Given the description of an element on the screen output the (x, y) to click on. 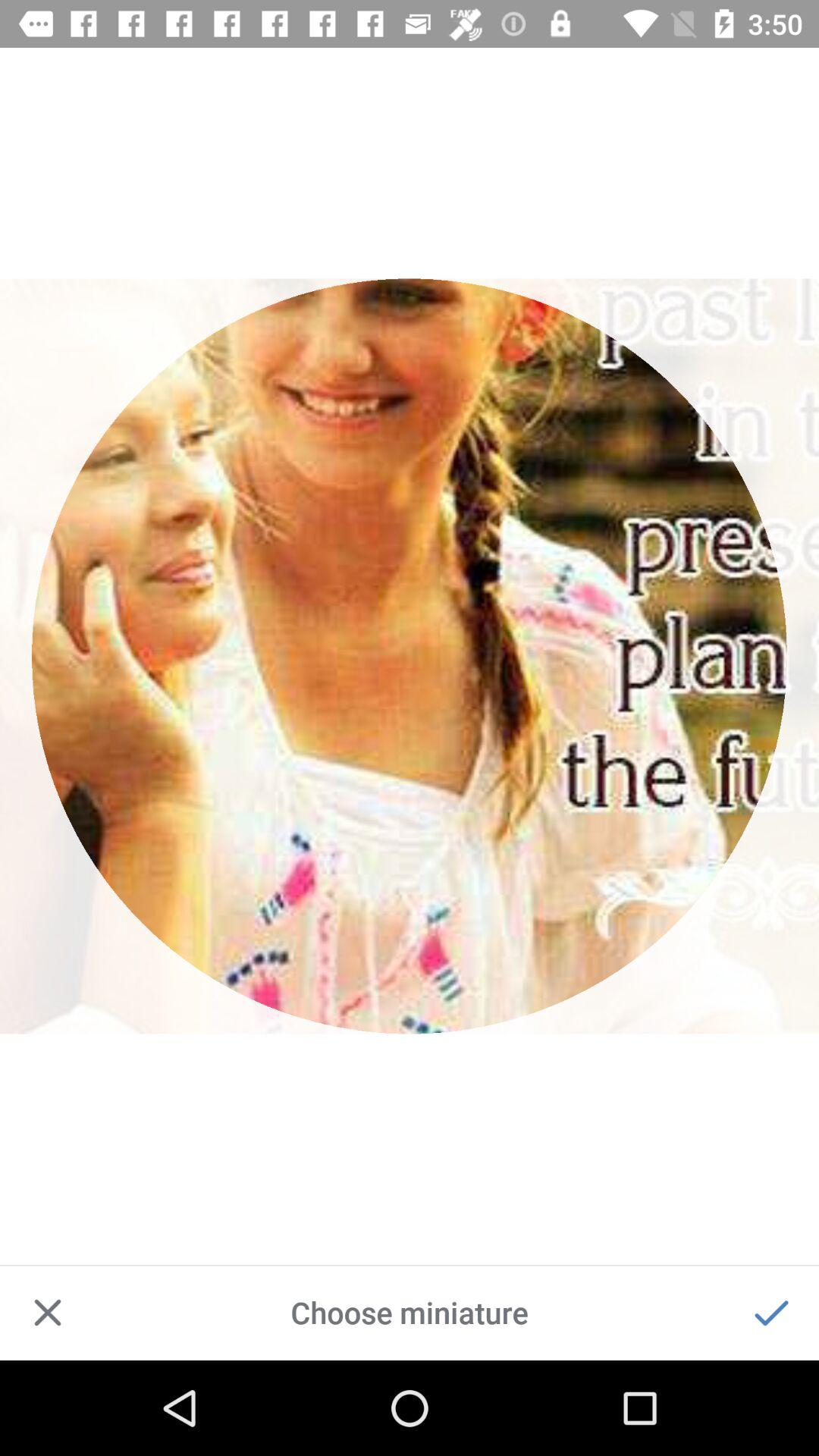
choose item at the bottom left corner (47, 1312)
